Given the description of an element on the screen output the (x, y) to click on. 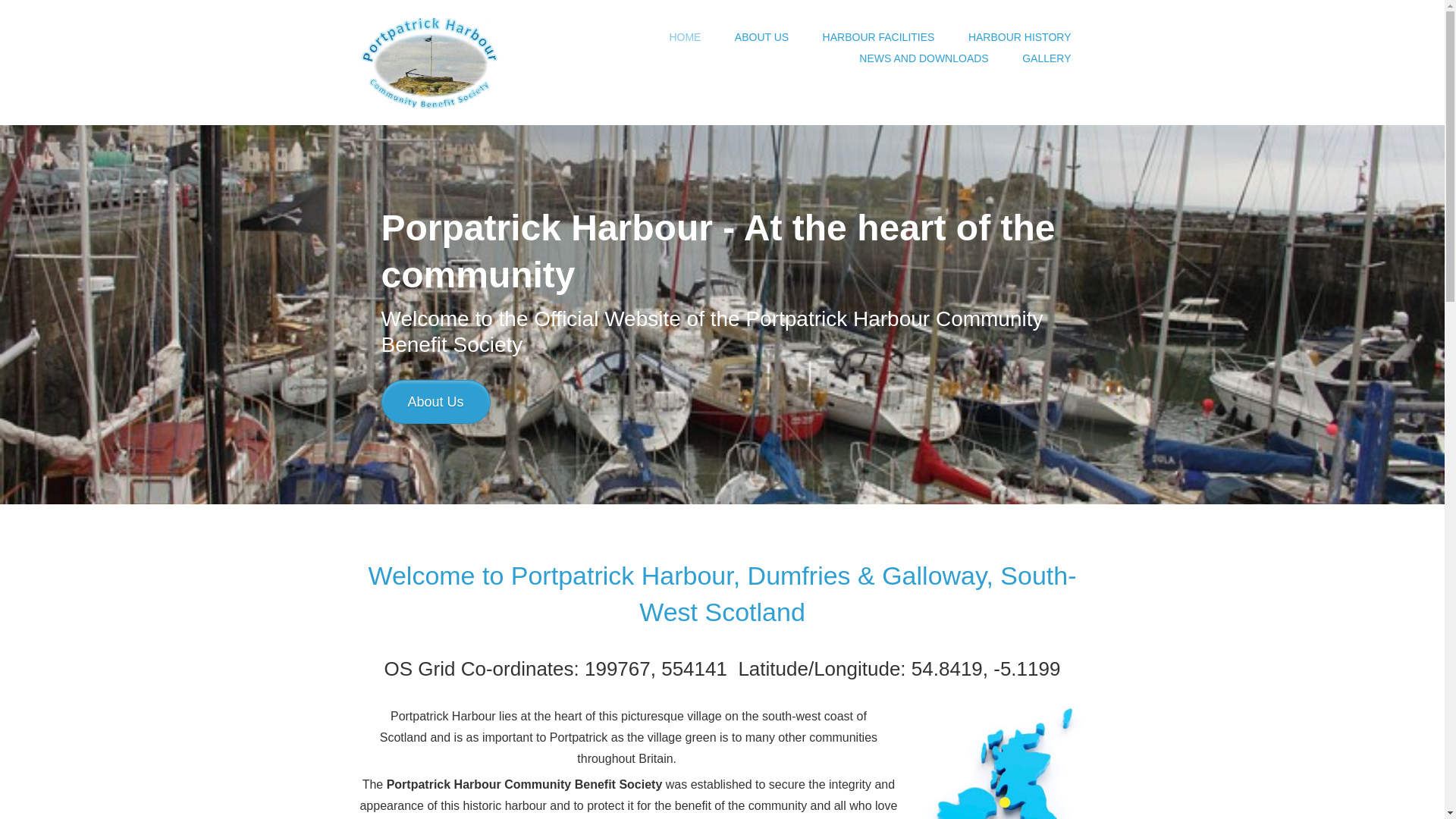
HARBOUR HISTORY (1019, 36)
ABOUT US (761, 36)
HOME (684, 36)
HARBOUR FACILITIES (879, 36)
About Us (434, 402)
GALLERY (1046, 57)
NEWS AND DOWNLOADS (923, 57)
